Given the description of an element on the screen output the (x, y) to click on. 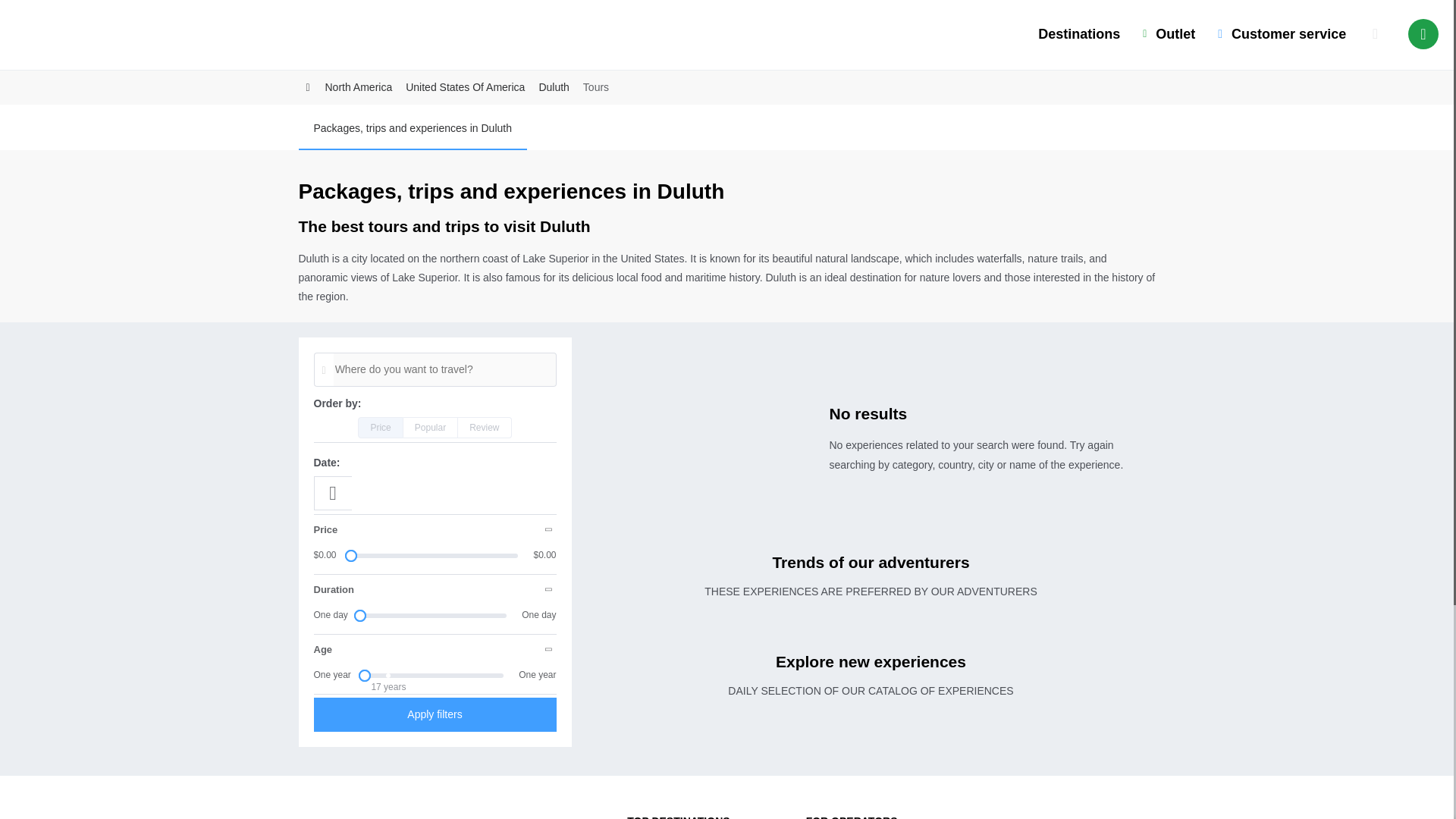
LocalAdventures (63, 37)
LocalAdventures (347, 813)
shopping-cart (1374, 33)
